Given the description of an element on the screen output the (x, y) to click on. 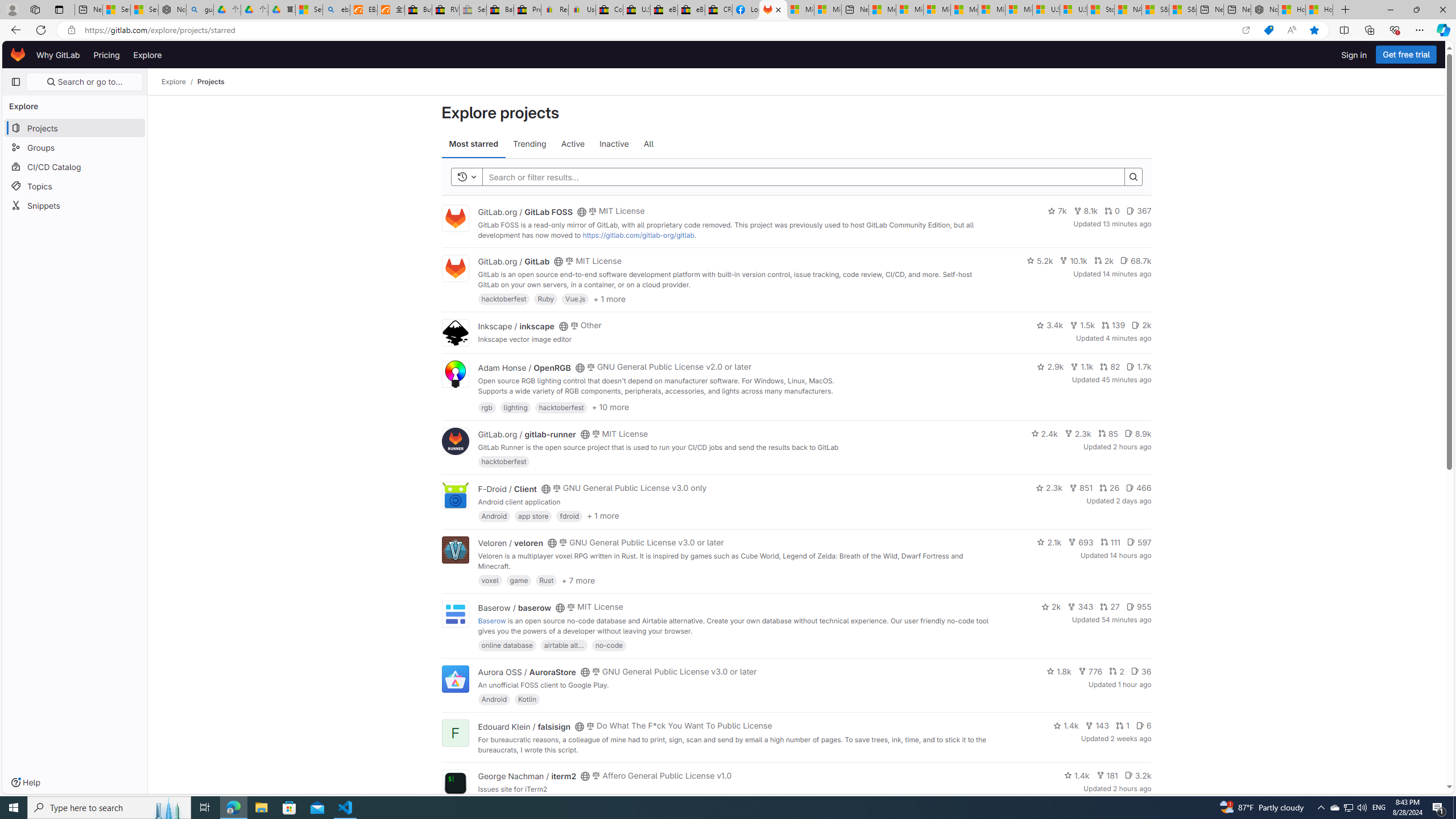
Topics (74, 185)
+ 7 more (578, 579)
Log into Facebook (746, 9)
S&P 500, Nasdaq end lower, weighed by Nvidia dip | Watch (1182, 9)
0 (1112, 210)
Pricing (106, 54)
CI/CD Catalog (74, 166)
2k (1051, 606)
hacktoberfest (504, 461)
Search (1133, 176)
